Given the description of an element on the screen output the (x, y) to click on. 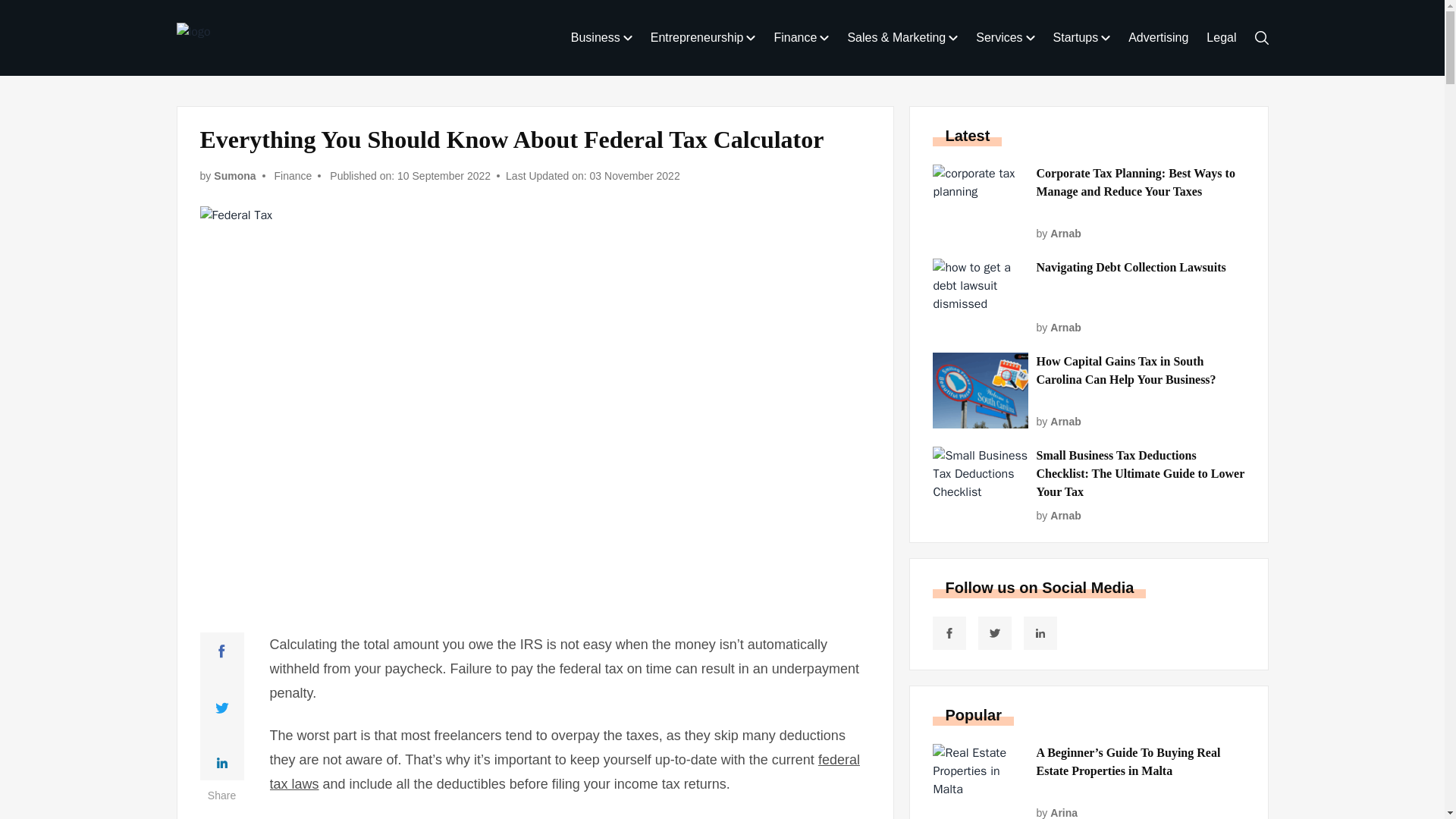
Business (601, 37)
Finance (800, 37)
Finance (294, 175)
Advertising (1157, 37)
Legal (1220, 37)
Posts by Sumona (235, 175)
Startups (1081, 37)
Services (1005, 37)
Entrepreneurship (703, 37)
